Given the description of an element on the screen output the (x, y) to click on. 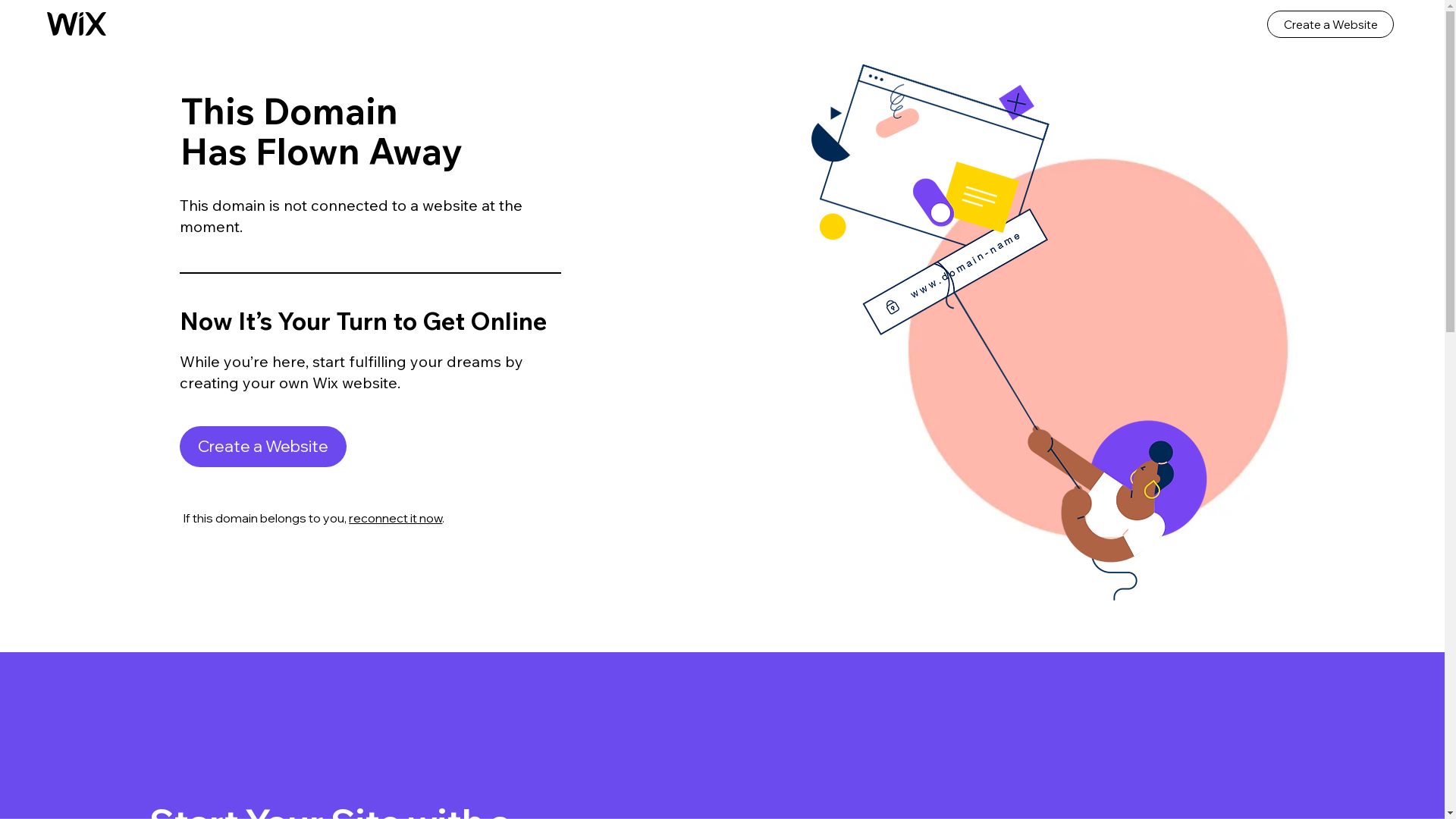
Create a Website Element type: text (262, 446)
Create a Website Element type: text (1330, 23)
reconnect it now Element type: text (395, 517)
